Given the description of an element on the screen output the (x, y) to click on. 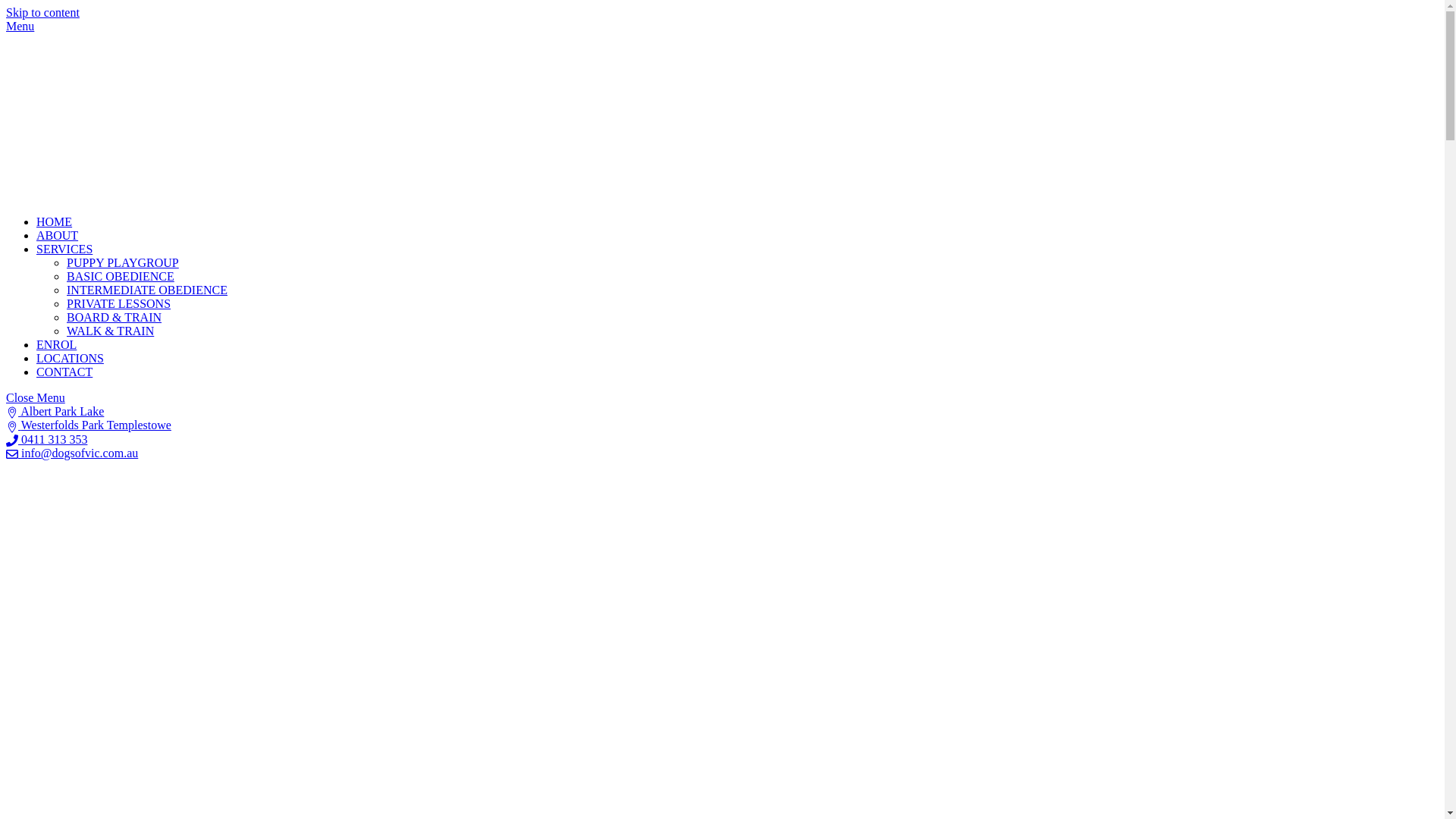
Albert Park Lake Element type: text (54, 410)
PUPPY PLAYGROUP Element type: text (122, 262)
0411 313 353 Element type: text (46, 439)
BOARD & TRAIN Element type: text (113, 316)
Westerfolds Park Templestowe Element type: text (88, 424)
PRIVATE LESSONS Element type: text (118, 303)
LOCATIONS Element type: text (69, 357)
WALK & TRAIN Element type: text (109, 330)
info@dogsofvic.com.au Element type: text (72, 452)
Skip to content Element type: text (42, 12)
HOME Element type: text (54, 221)
BASIC OBEDIENCE Element type: text (120, 275)
SERVICES Element type: text (64, 248)
Close Menu Element type: text (35, 397)
Menu Element type: text (20, 25)
INTERMEDIATE OBEDIENCE Element type: text (146, 289)
ENROL Element type: text (56, 344)
D.O.G.S of Vic. Element type: hover (89, 195)
CONTACT Element type: text (64, 371)
ABOUT Element type: text (57, 235)
